Given the description of an element on the screen output the (x, y) to click on. 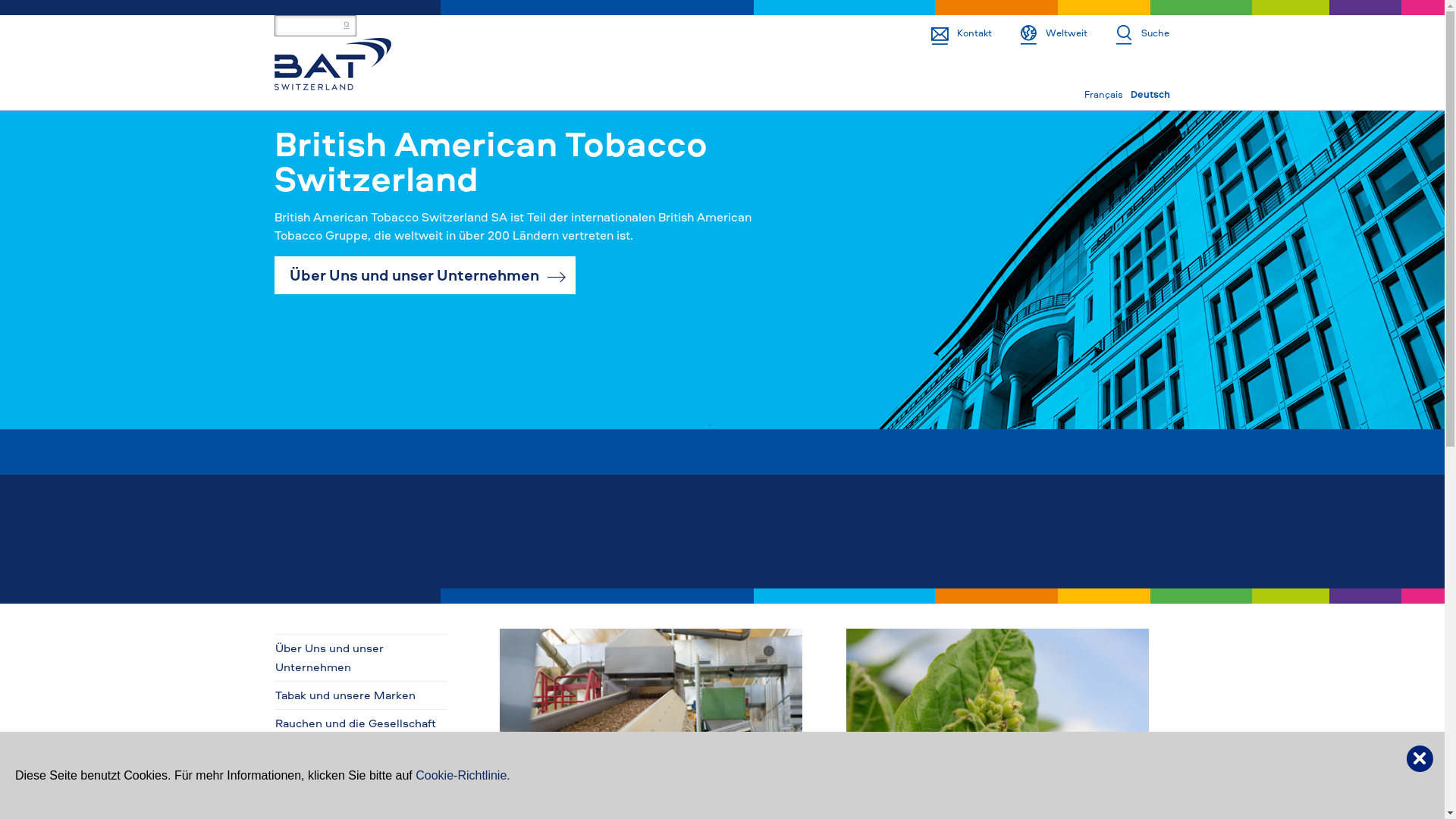
Unsere Verantwortung Element type: text (361, 752)
Kontakt Element type: text (947, 32)
Aktuelle Themen  Element type: hover (650, 727)
Go Element type: text (14, 9)
Deutsch Element type: text (1150, 93)
Gesundheit und Wissenschaft Element type: text (361, 780)
Rauchen und die Gesellschaft Element type: text (361, 723)
Weltweit Element type: text (1039, 32)
Tabak und unsere Marken Element type: text (361, 695)
Pressemitteilungen & News Element type: text (361, 808)
Sustainable agriculture Element type: hover (997, 727)
Home Element type: hover (332, 62)
Suche Element type: text (1128, 32)
close Element type: hover (1419, 756)
Cookie-Richtlinie. Element type: text (462, 774)
